Given the description of an element on the screen output the (x, y) to click on. 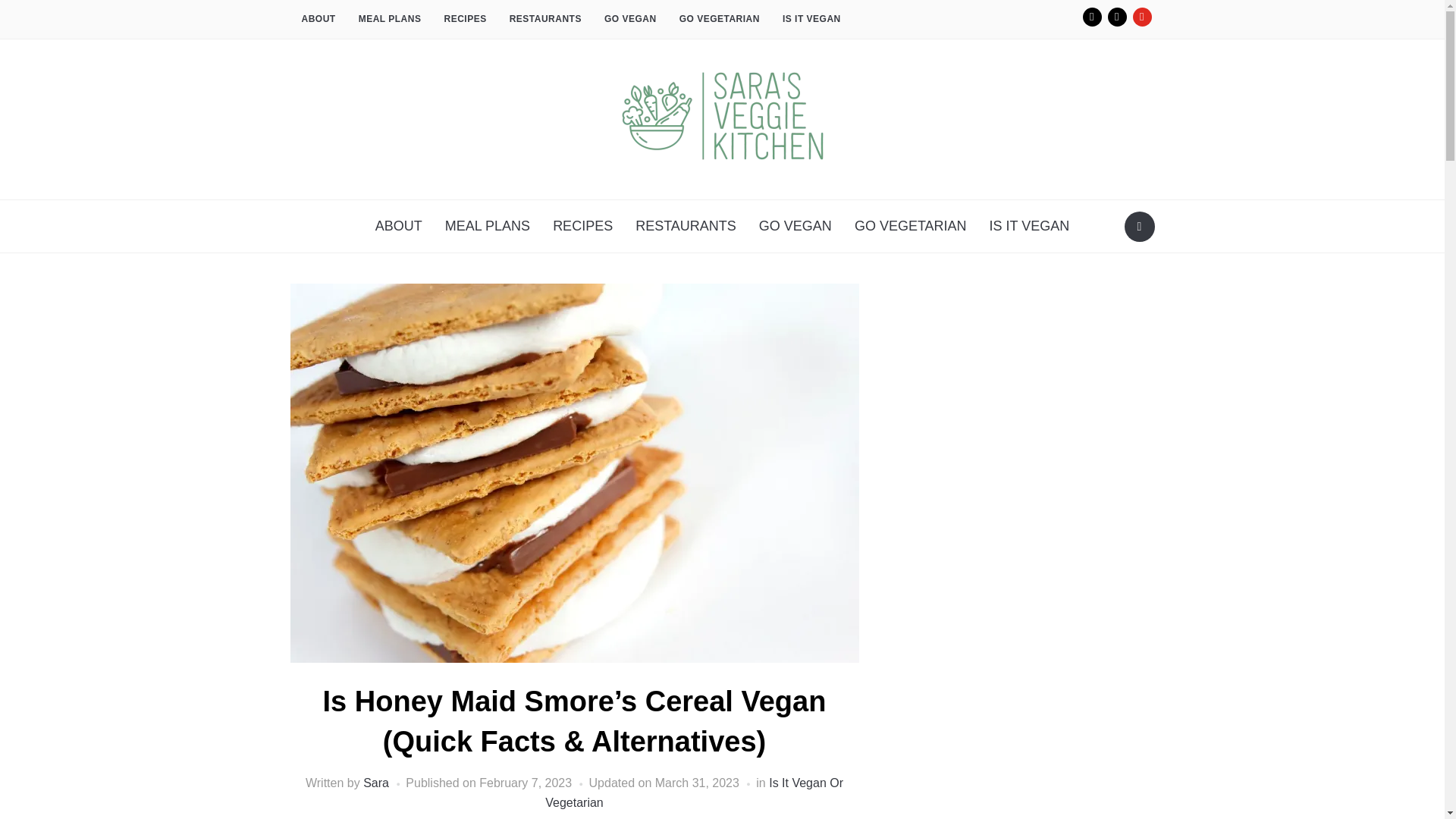
Instagram (1092, 16)
GO VEGAN (630, 19)
instagram (1092, 16)
ABOUT (317, 19)
MEAL PLANS (389, 19)
youtube (1141, 16)
Default Label (1115, 16)
mail (1115, 16)
RECIPES (464, 19)
RESTAURANTS (544, 19)
